Given the description of an element on the screen output the (x, y) to click on. 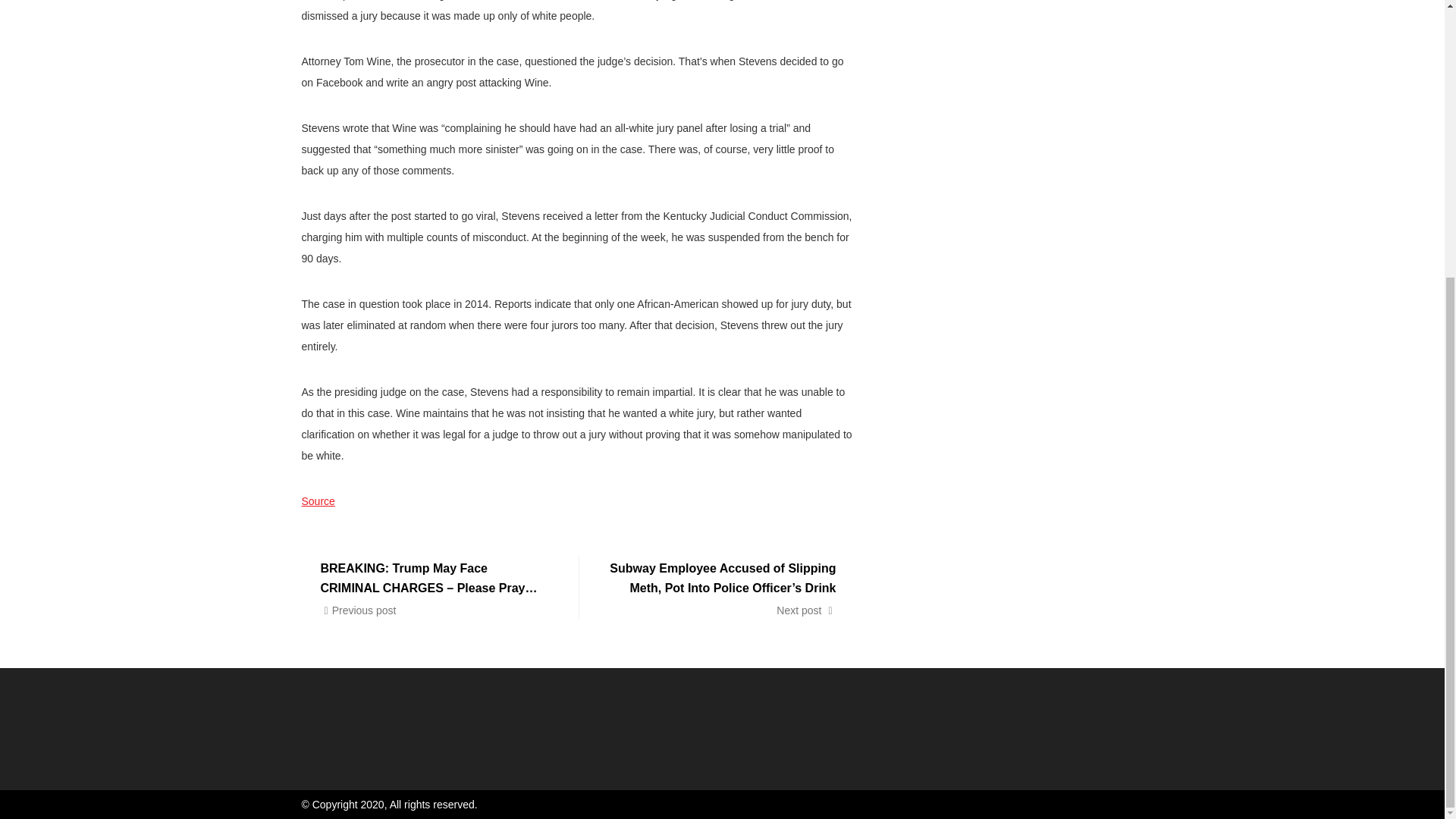
Source (317, 500)
